Given the description of an element on the screen output the (x, y) to click on. 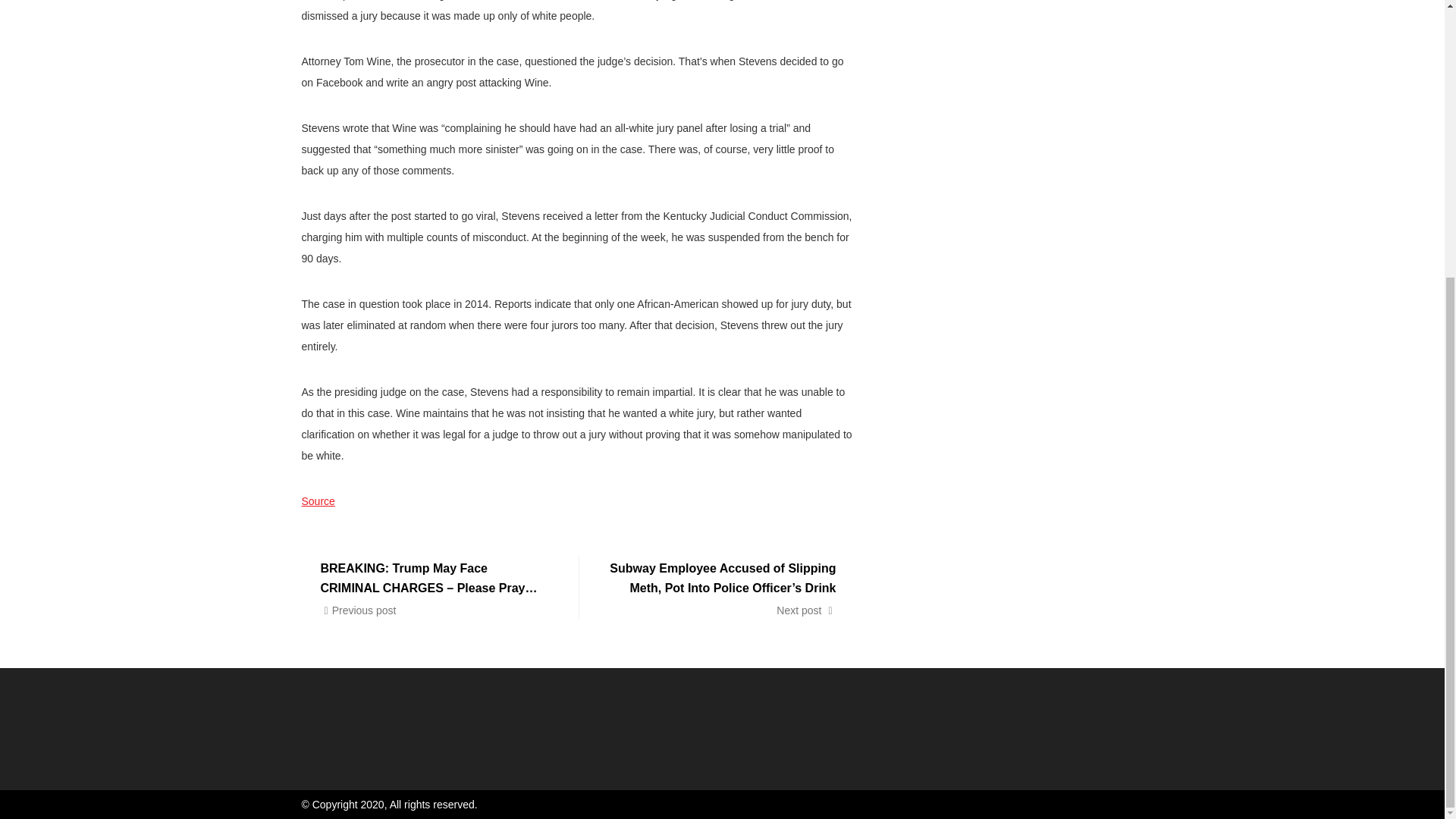
Source (317, 500)
